Given the description of an element on the screen output the (x, y) to click on. 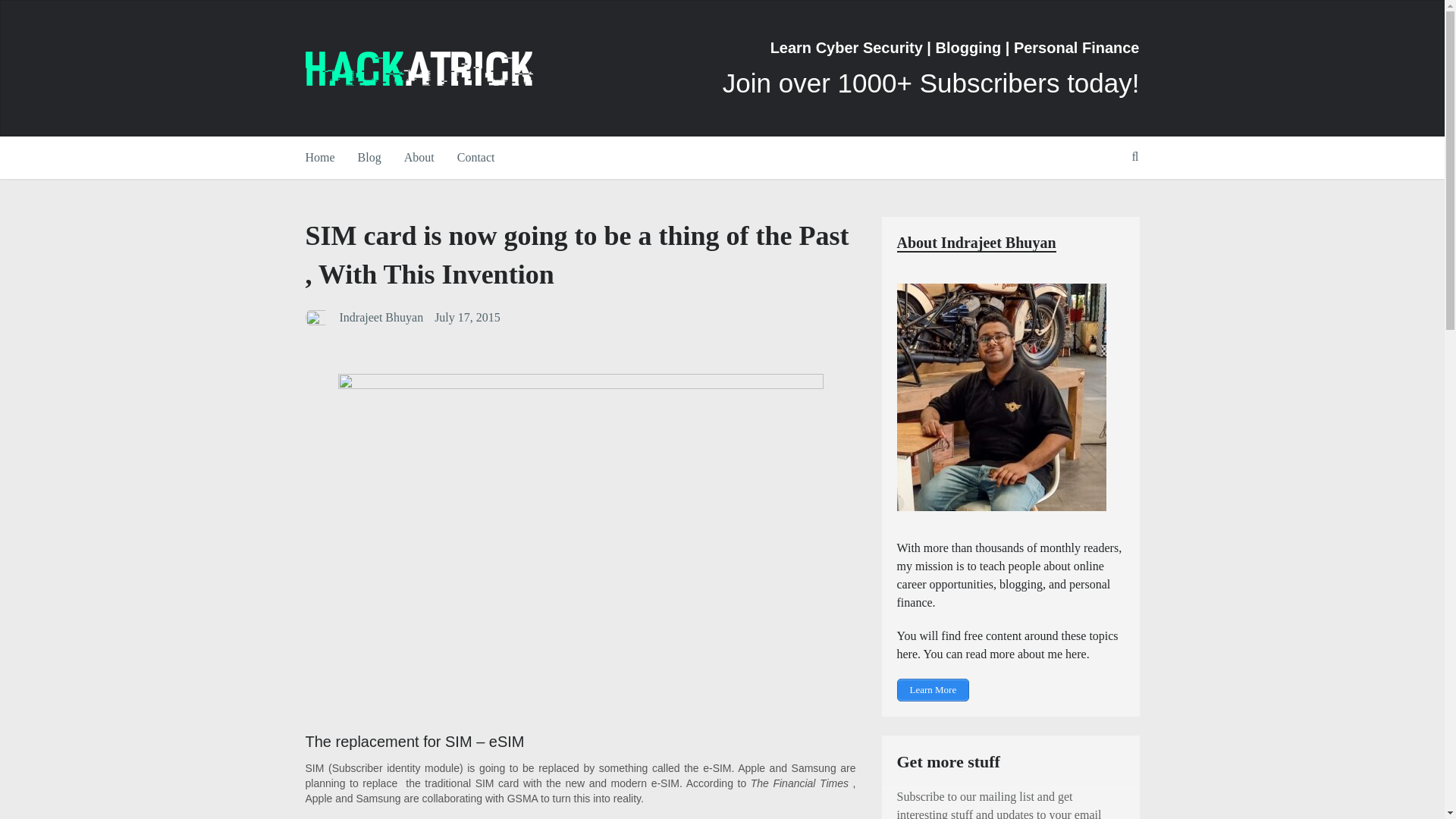
Learn More (932, 689)
About (419, 157)
Contact (475, 157)
Blog (369, 157)
Home (325, 157)
